Given the description of an element on the screen output the (x, y) to click on. 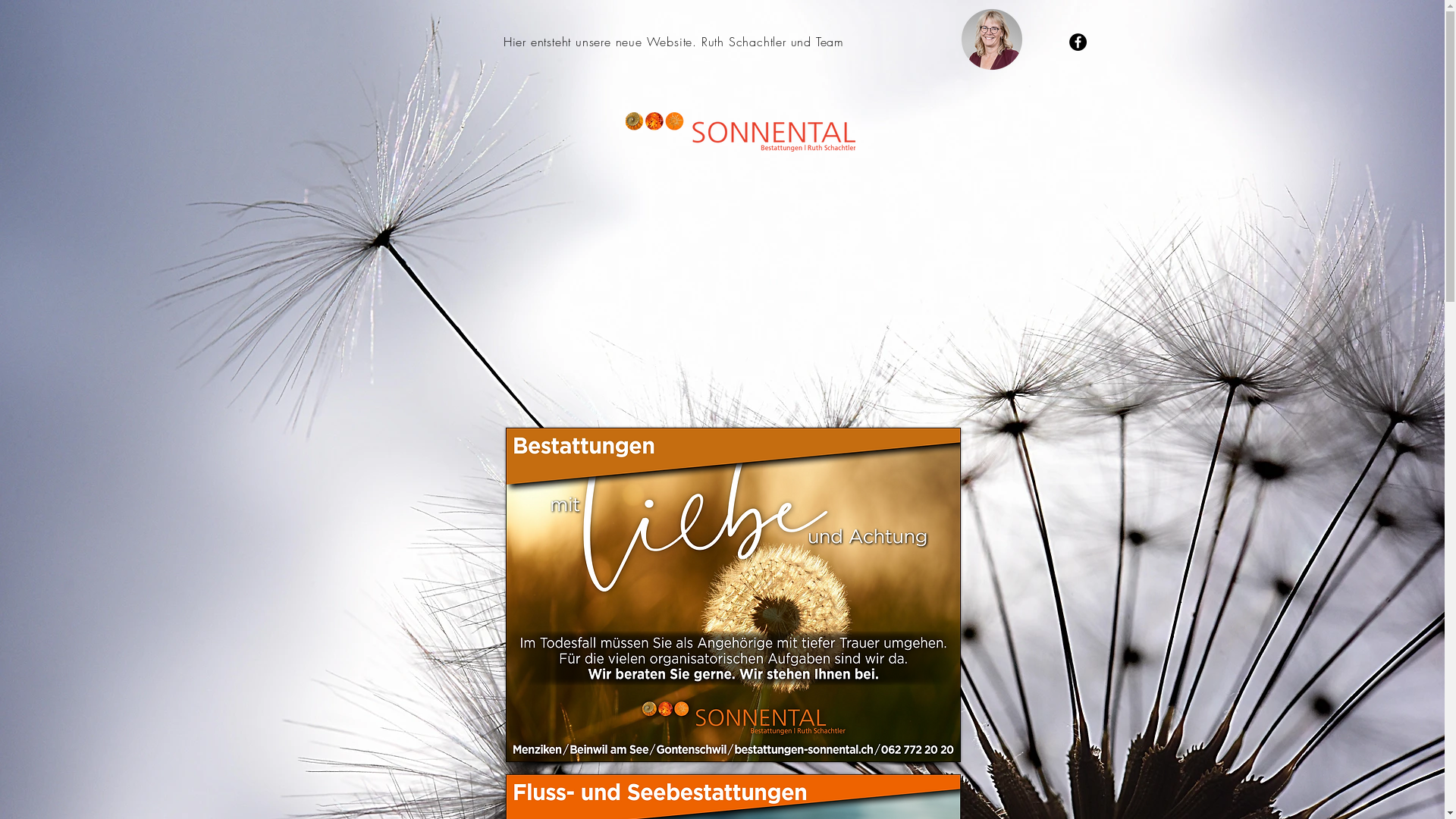
mit Liebe und Achtung Element type: hover (732, 594)
